Given the description of an element on the screen output the (x, y) to click on. 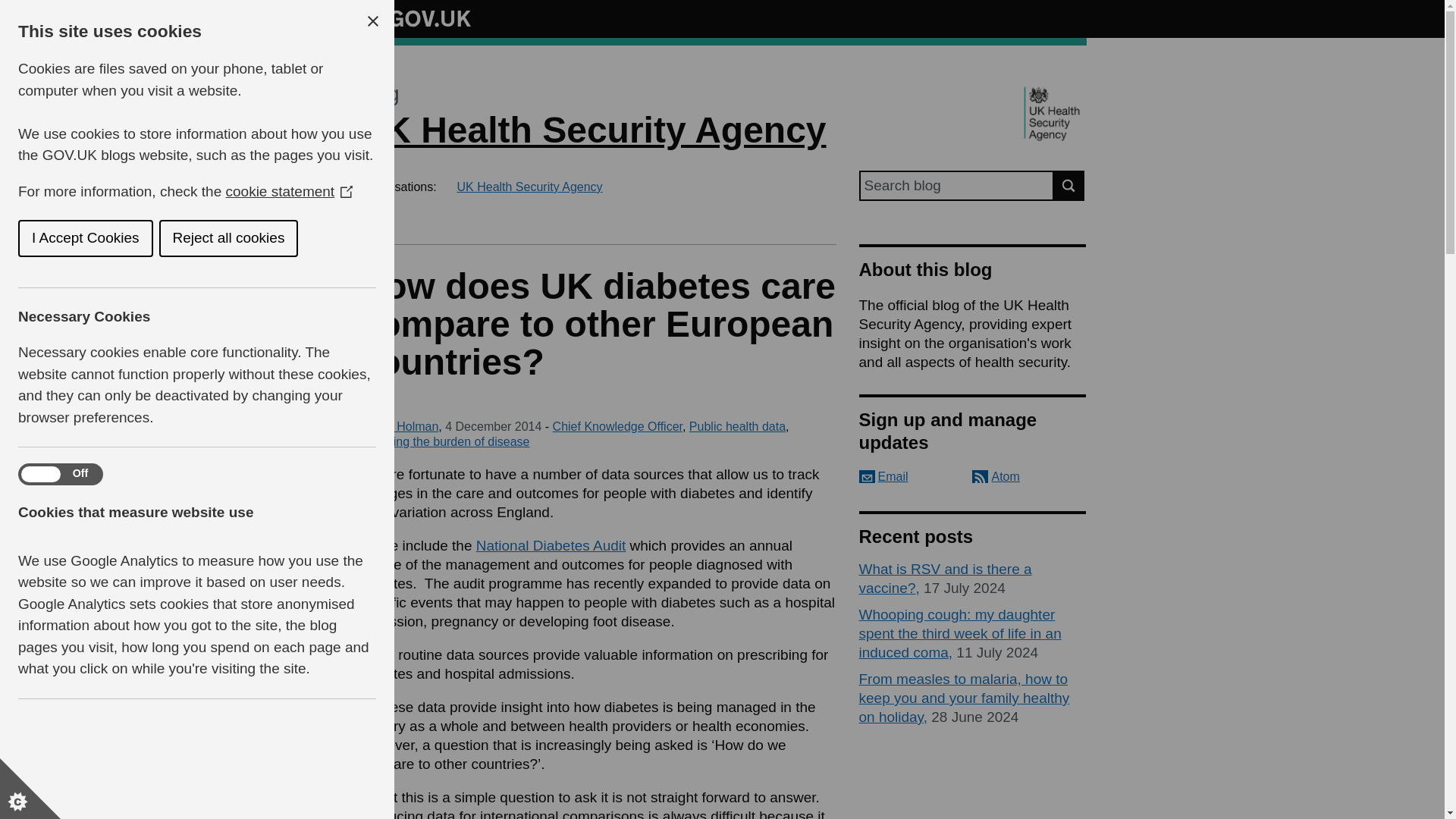
What is RSV and is there a vaccine? (944, 578)
Search (1069, 185)
Reject all cookies (112, 238)
GOV.UK (414, 18)
Blog (378, 93)
Email (883, 476)
Atom (995, 476)
Skip to main content (11, 7)
Go to the GOV.UK homepage (414, 18)
GOV.UK (414, 15)
Naomi Holman (398, 426)
National Diabetes Audit (551, 545)
Public health data (737, 426)
UK Health Security Agency (591, 129)
